Given the description of an element on the screen output the (x, y) to click on. 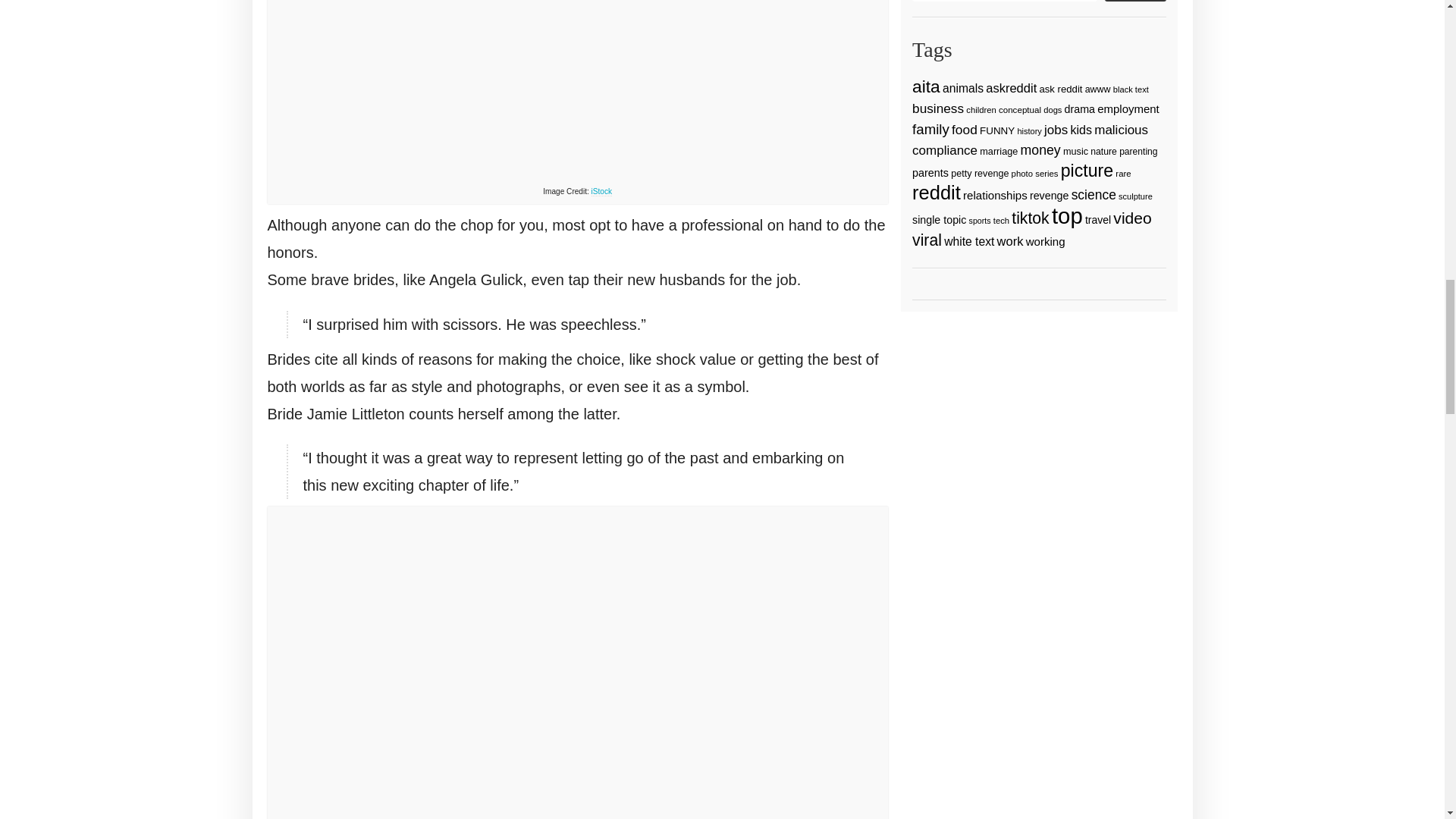
Search (1135, 0)
iStock (601, 191)
